Given the description of an element on the screen output the (x, y) to click on. 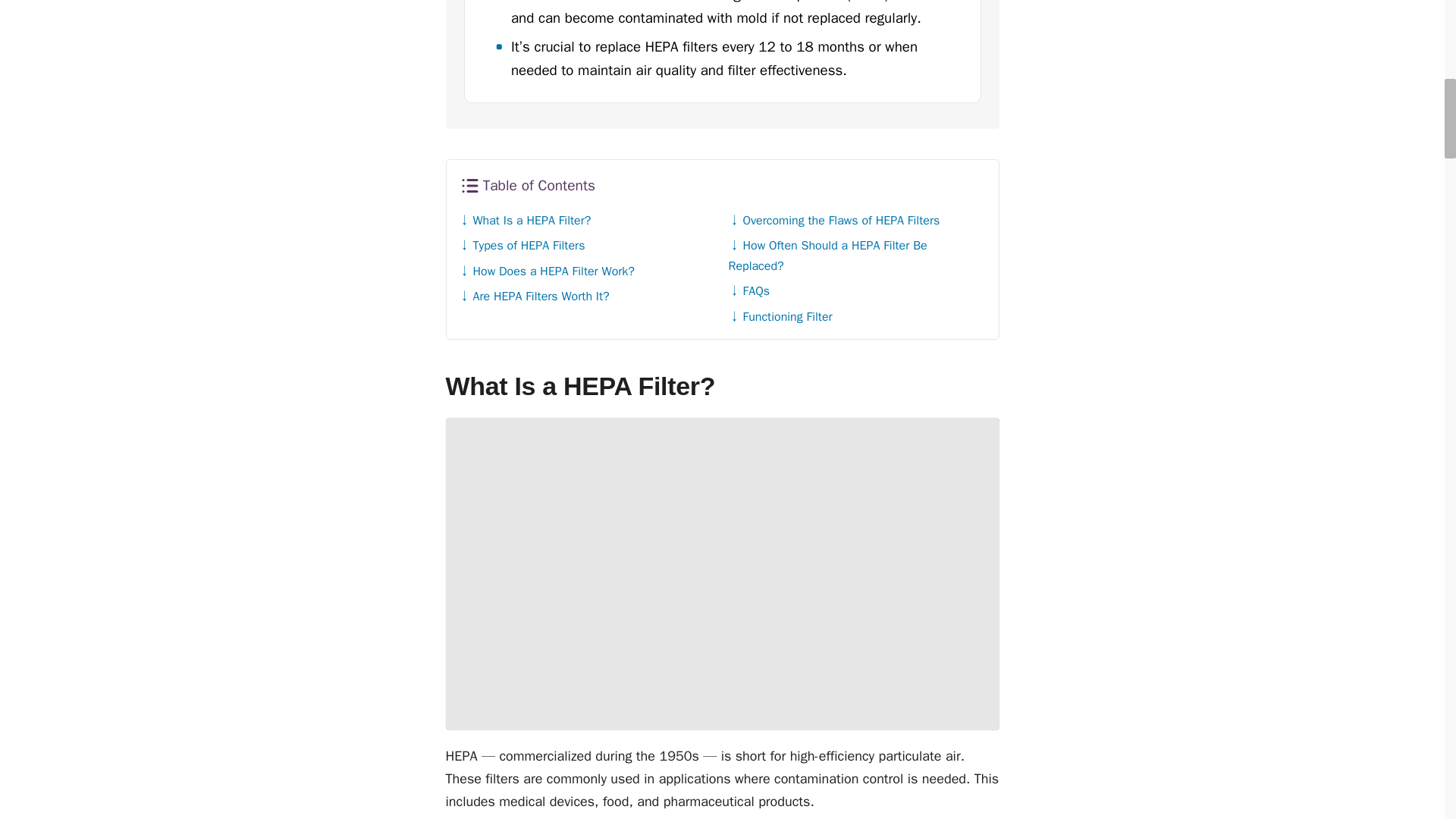
How Does a HEPA Filter Work? (545, 271)
What Is a HEPA Filter? (524, 220)
Types of HEPA Filters (521, 245)
Are HEPA Filters Worth It? (533, 296)
How Often Should a HEPA Filter Be Replaced? (827, 255)
What Is a HEPA Filter? (524, 220)
Types of HEPA Filters (521, 245)
Overcoming the Flaws of HEPA Filters (833, 220)
How Does a HEPA Filter Work? (545, 271)
Functioning Filter (779, 316)
Are HEPA Filters Worth It? (533, 296)
Overcoming the Flaws of HEPA Filters (833, 220)
FAQs (748, 290)
